Given the description of an element on the screen output the (x, y) to click on. 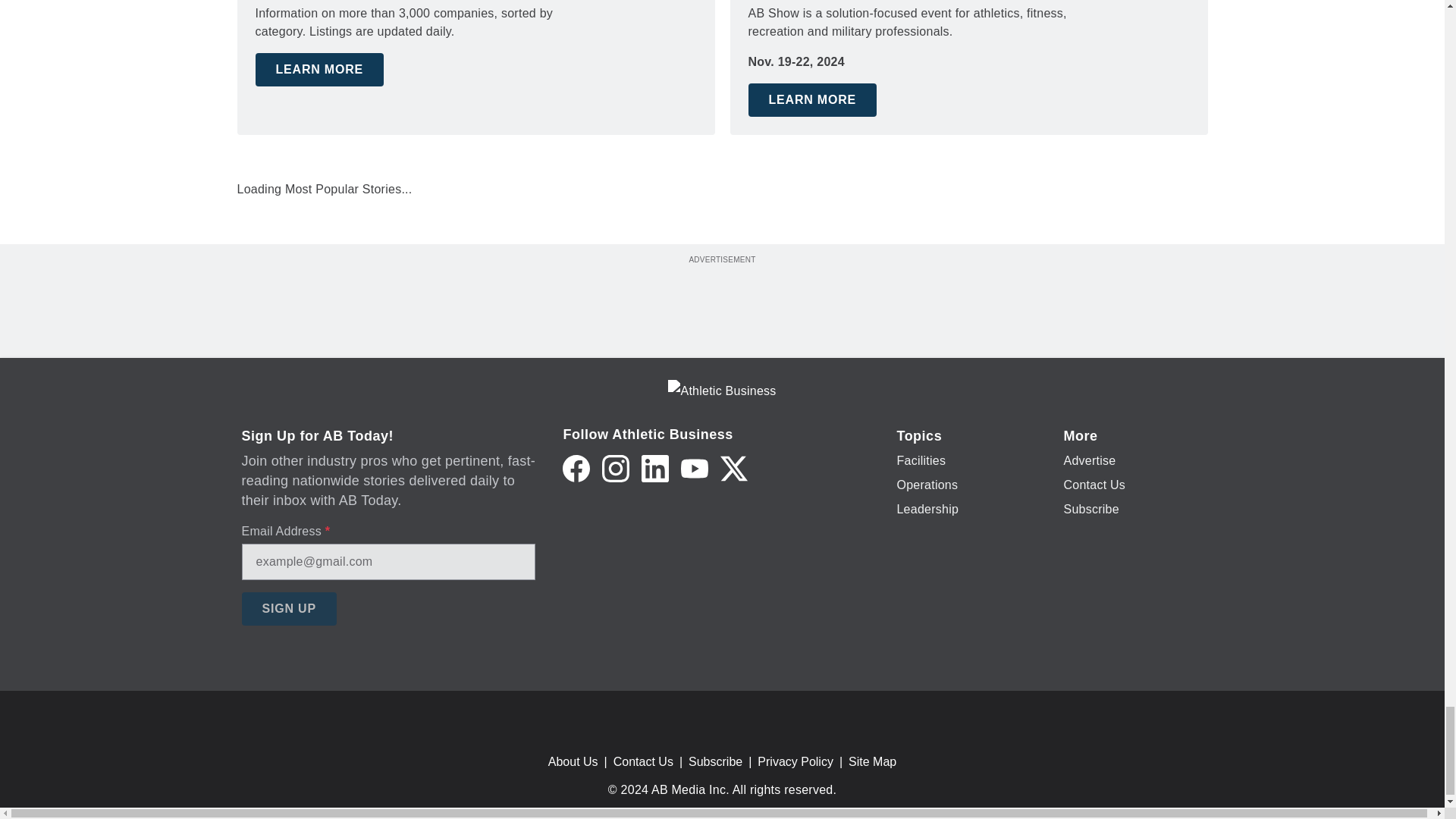
Twitter X icon (734, 468)
YouTube icon (694, 468)
LinkedIn icon (655, 468)
Instagram icon (615, 468)
Facebook icon (575, 468)
